Given the description of an element on the screen output the (x, y) to click on. 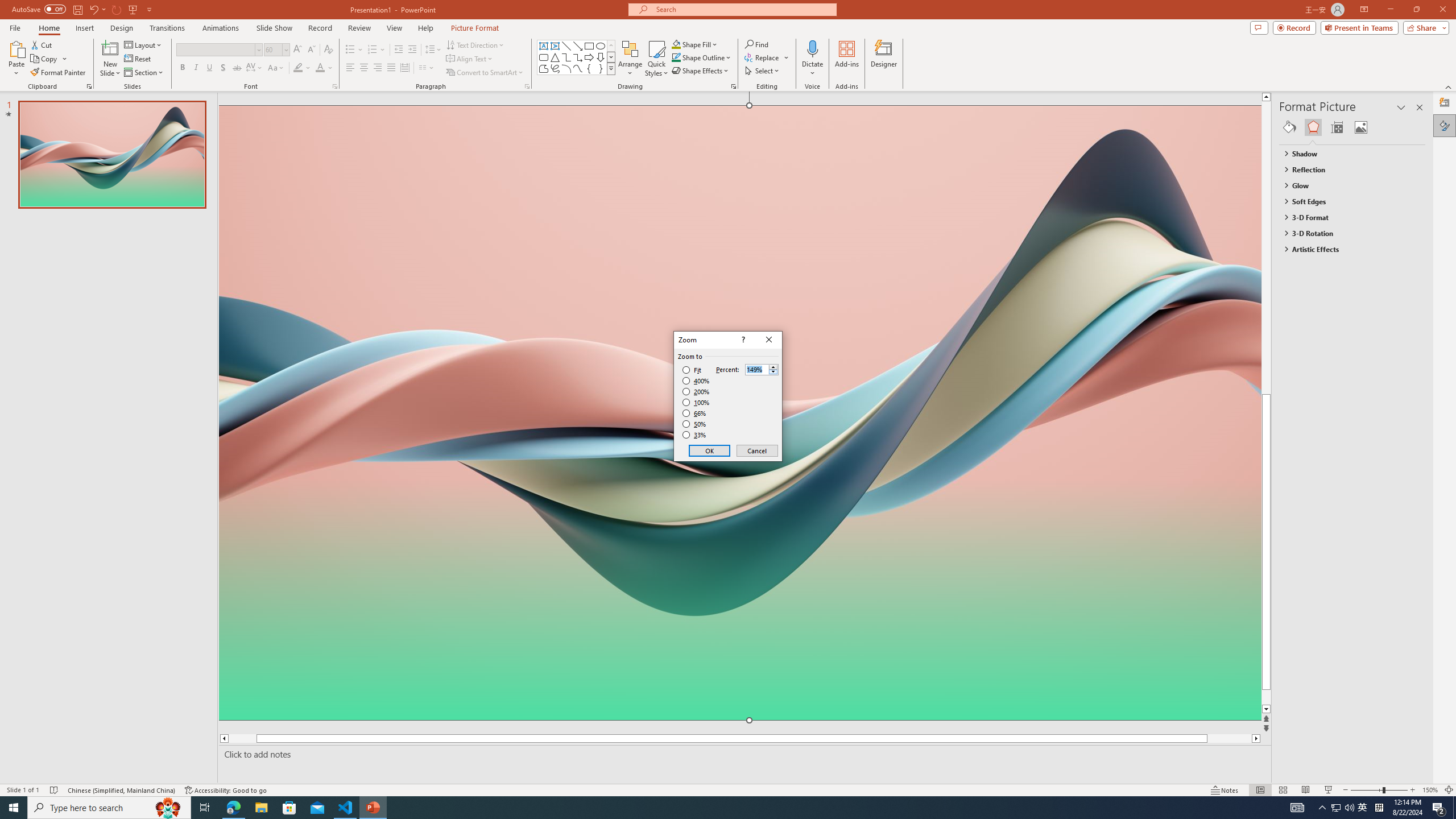
Soft Edges (1347, 201)
3-D Format (1347, 217)
